Given the description of an element on the screen output the (x, y) to click on. 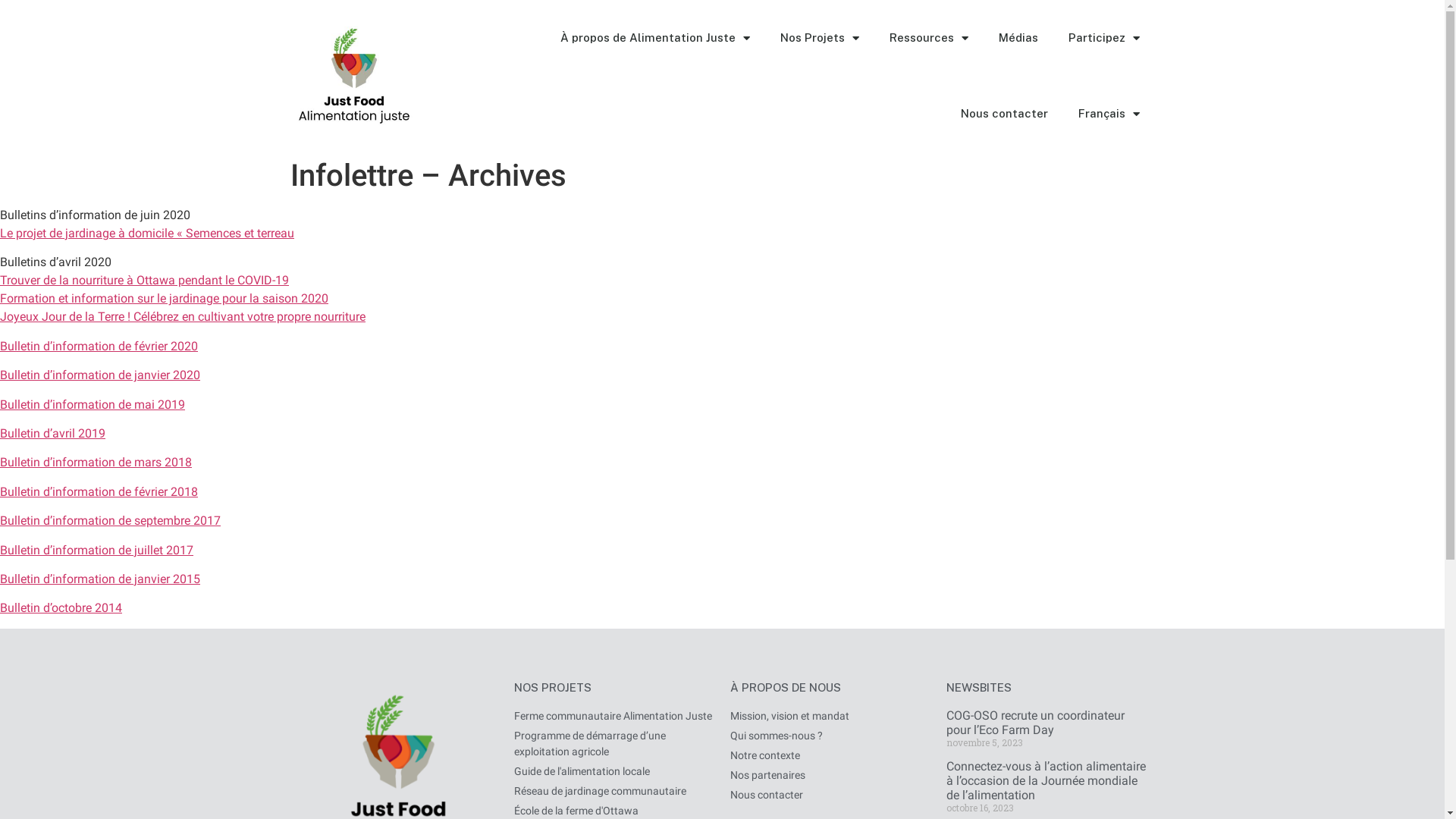
Guide de l'alimentation locale Element type: text (614, 771)
Nous contacter Element type: text (1003, 113)
Nous contacter Element type: text (829, 795)
Qui sommes-nous ? Element type: text (829, 735)
Participez Element type: text (1103, 37)
Nos partenaires Element type: text (829, 775)
Mission, vision et mandat Element type: text (829, 716)
Nos Projets Element type: text (818, 37)
Ressources Element type: text (927, 37)
Notre contexte Element type: text (829, 755)
Ferme communautaire Alimentation Juste Element type: text (614, 716)
